Given the description of an element on the screen output the (x, y) to click on. 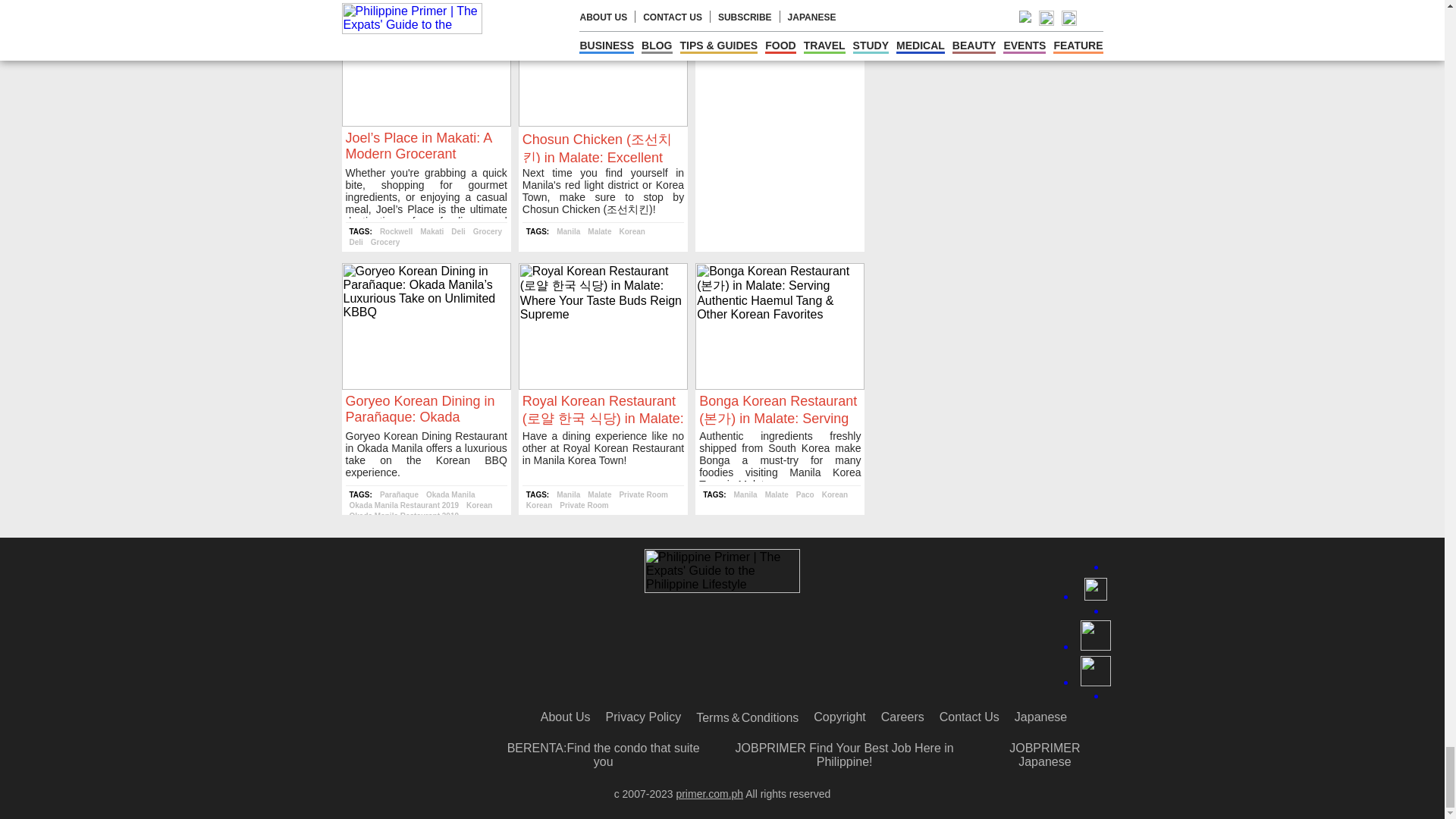
Grocery (487, 231)
Rockwell (396, 231)
Makati (432, 231)
Deli (457, 231)
